Given the description of an element on the screen output the (x, y) to click on. 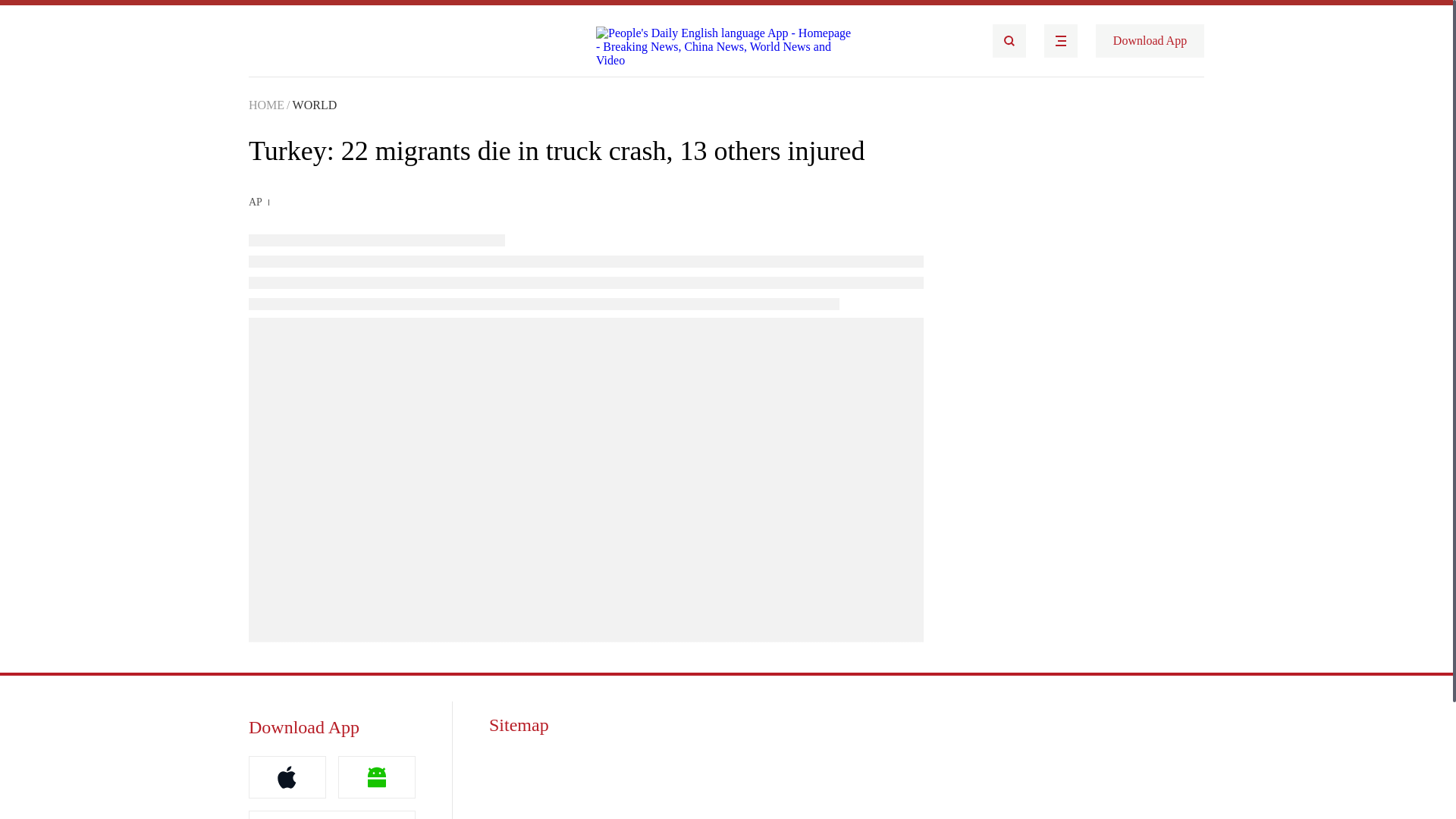
Download App (1150, 40)
HOME (265, 105)
Google Play (331, 814)
